Given the description of an element on the screen output the (x, y) to click on. 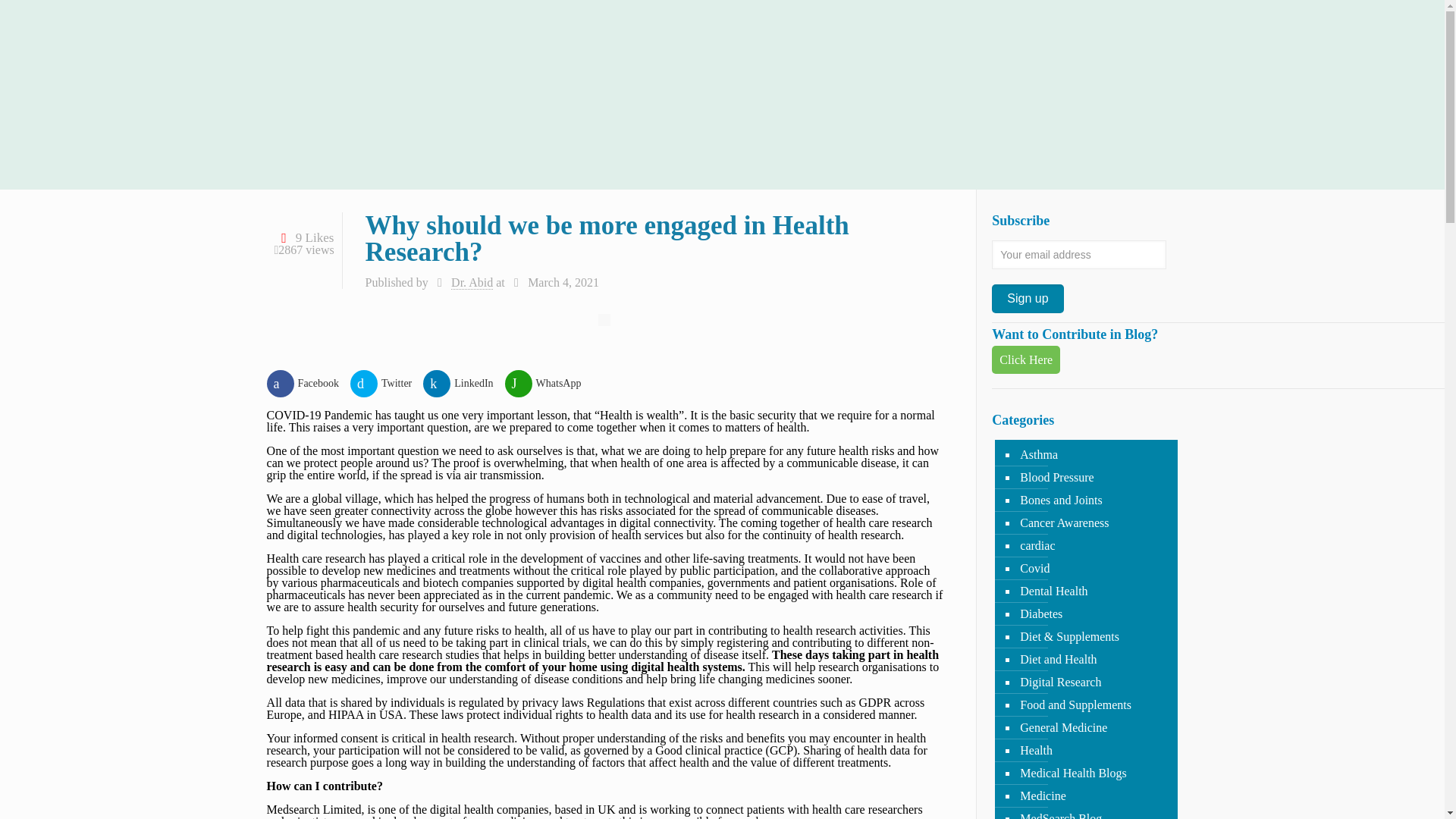
Facebook (308, 383)
Share on WhatsApp (548, 383)
WhatsApp (548, 383)
Sign up (1026, 298)
9 (304, 237)
LinkedIn (463, 383)
Dr. Abid (472, 282)
Twitter (386, 383)
Share on Twitter (386, 383)
Share on Facebook (308, 383)
